Given the description of an element on the screen output the (x, y) to click on. 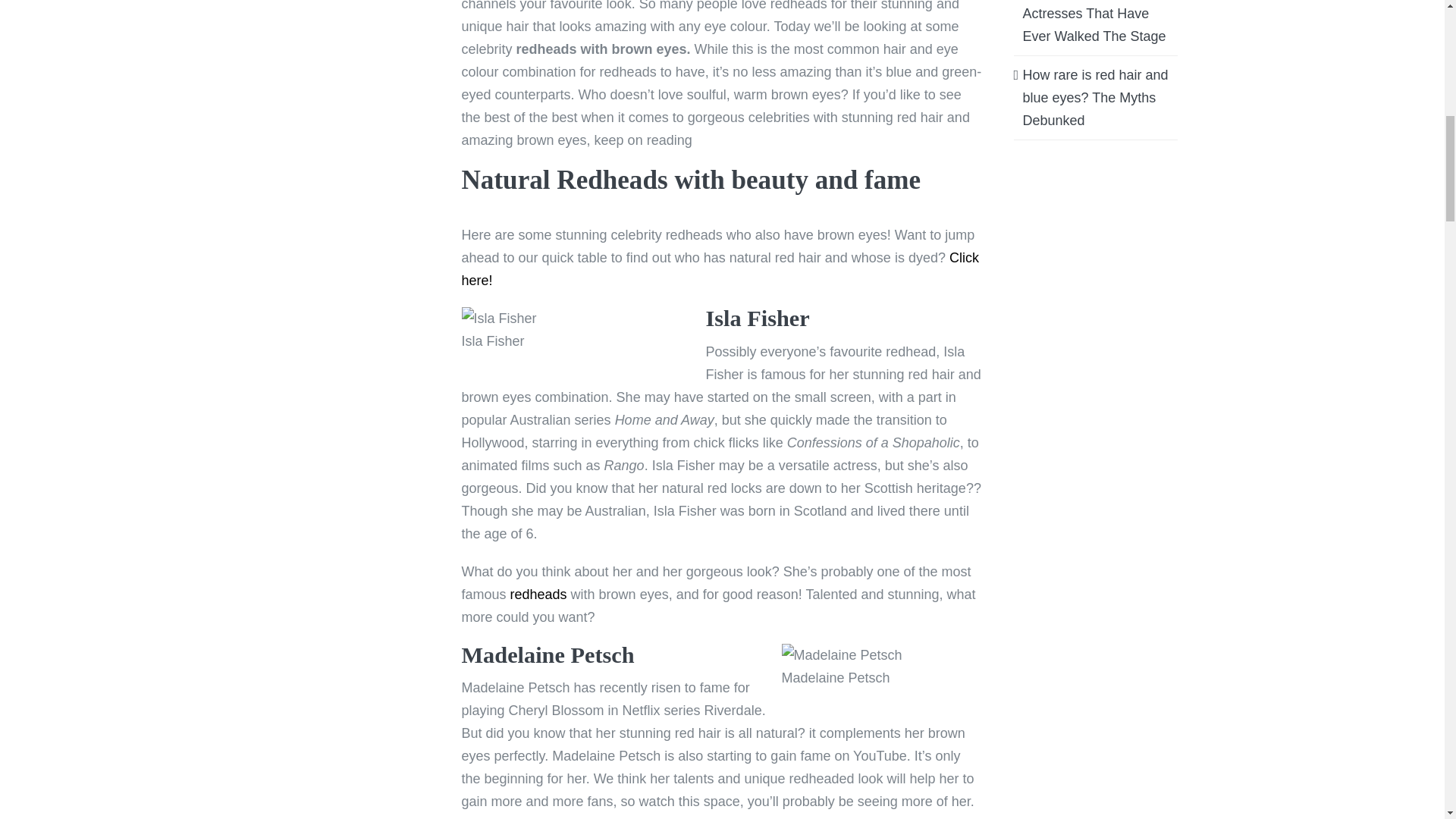
redheads (539, 594)
Click here! (719, 269)
How rare is red hair and blue eyes? The Myths Debunked (1094, 97)
